Given the description of an element on the screen output the (x, y) to click on. 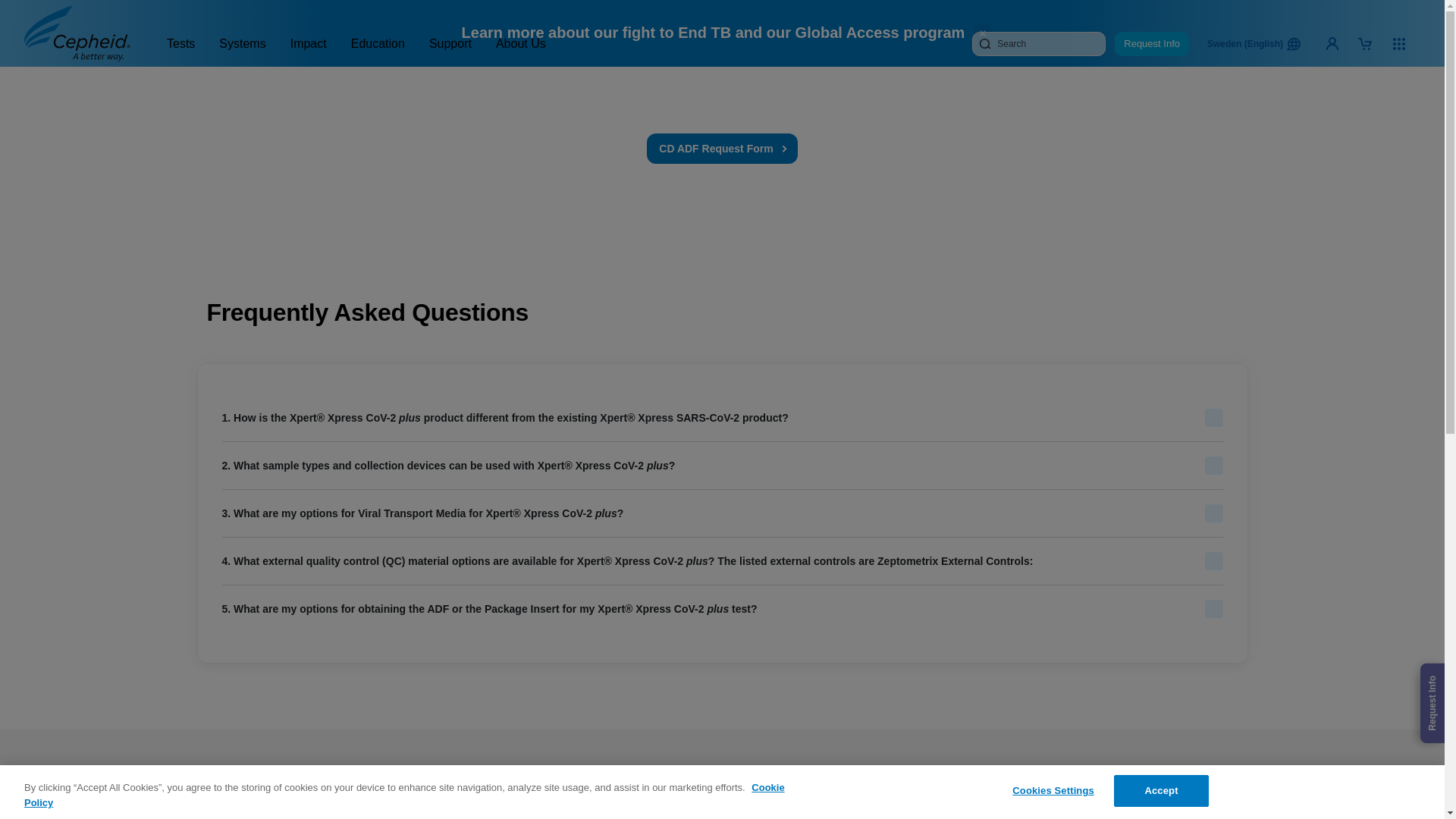
Tests (181, 44)
